Given the description of an element on the screen output the (x, y) to click on. 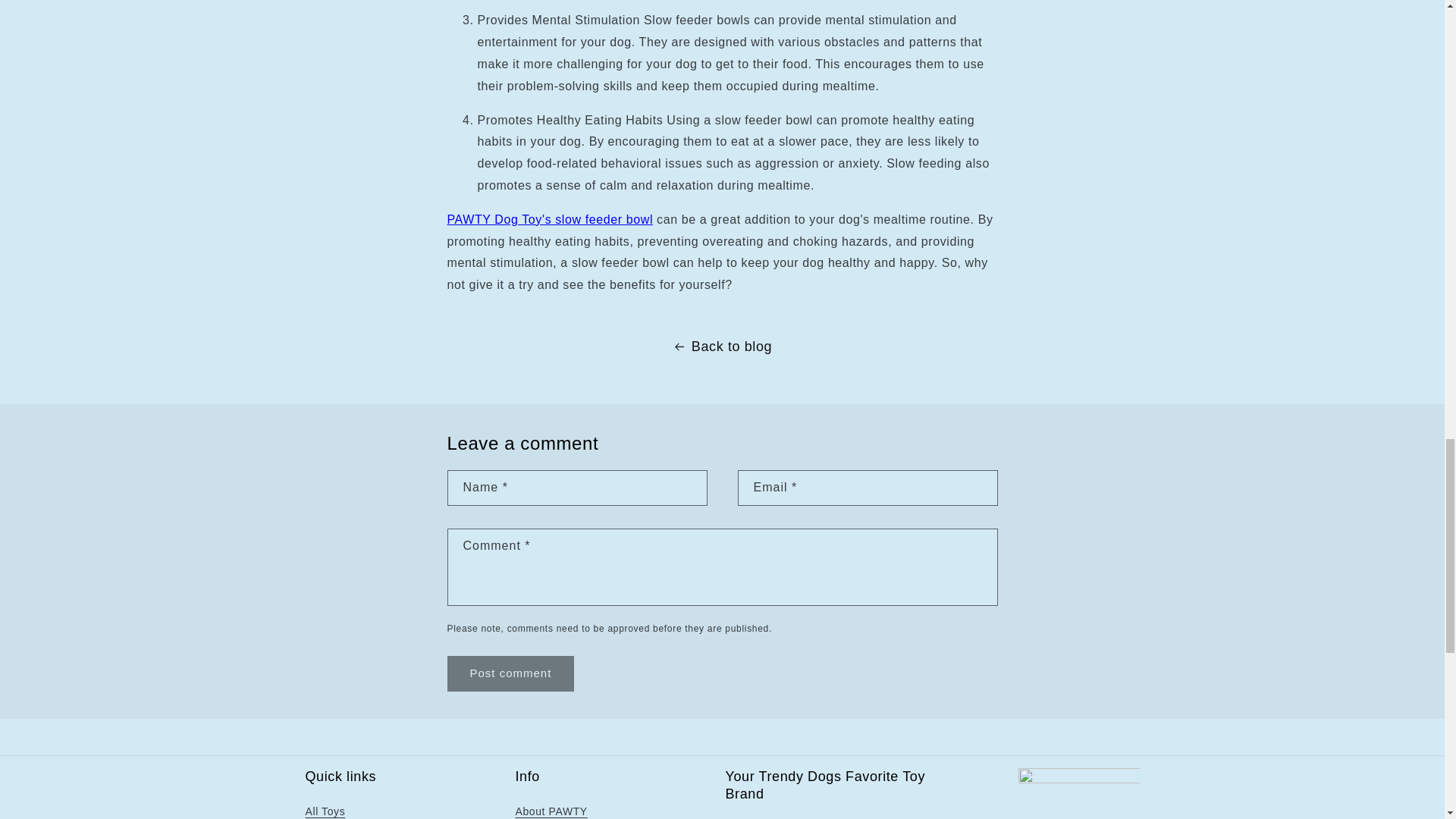
PAWTY Dog Toy's slow feeder bowl (549, 219)
Post comment (510, 673)
Post comment (510, 673)
All Toys (324, 810)
